Given the description of an element on the screen output the (x, y) to click on. 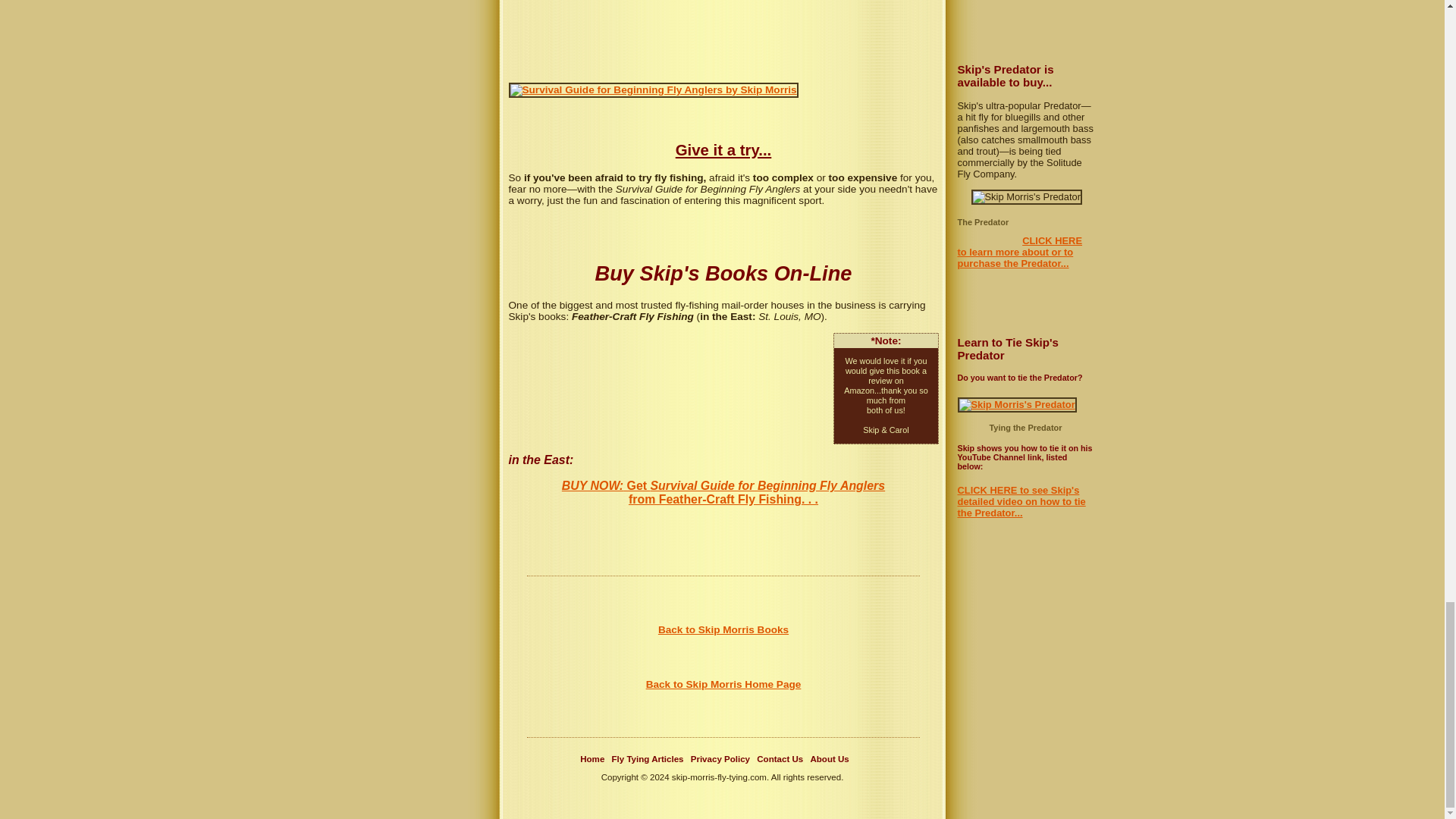
Back to Skip Morris Books (723, 629)
Back to Skip Morris Home Page (724, 684)
